Given the description of an element on the screen output the (x, y) to click on. 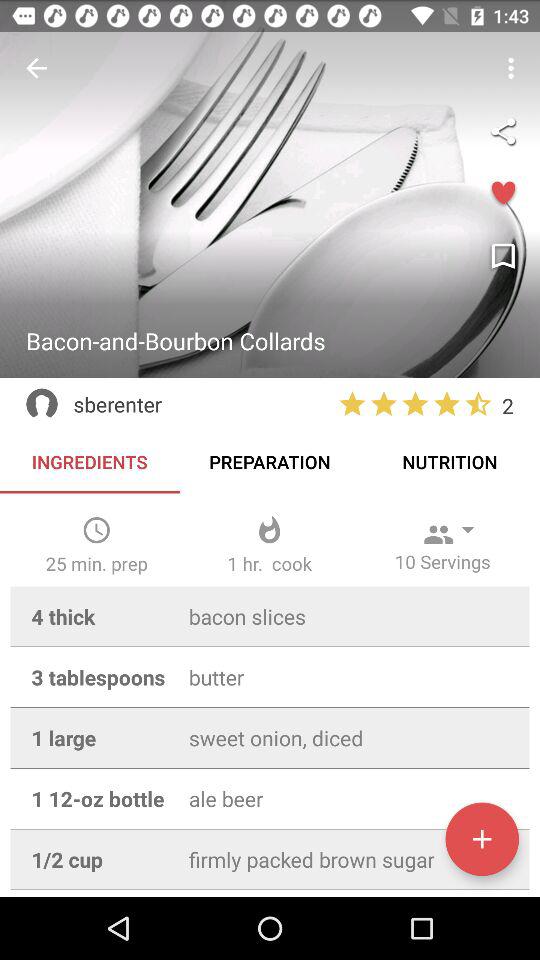
connect (503, 131)
